Given the description of an element on the screen output the (x, y) to click on. 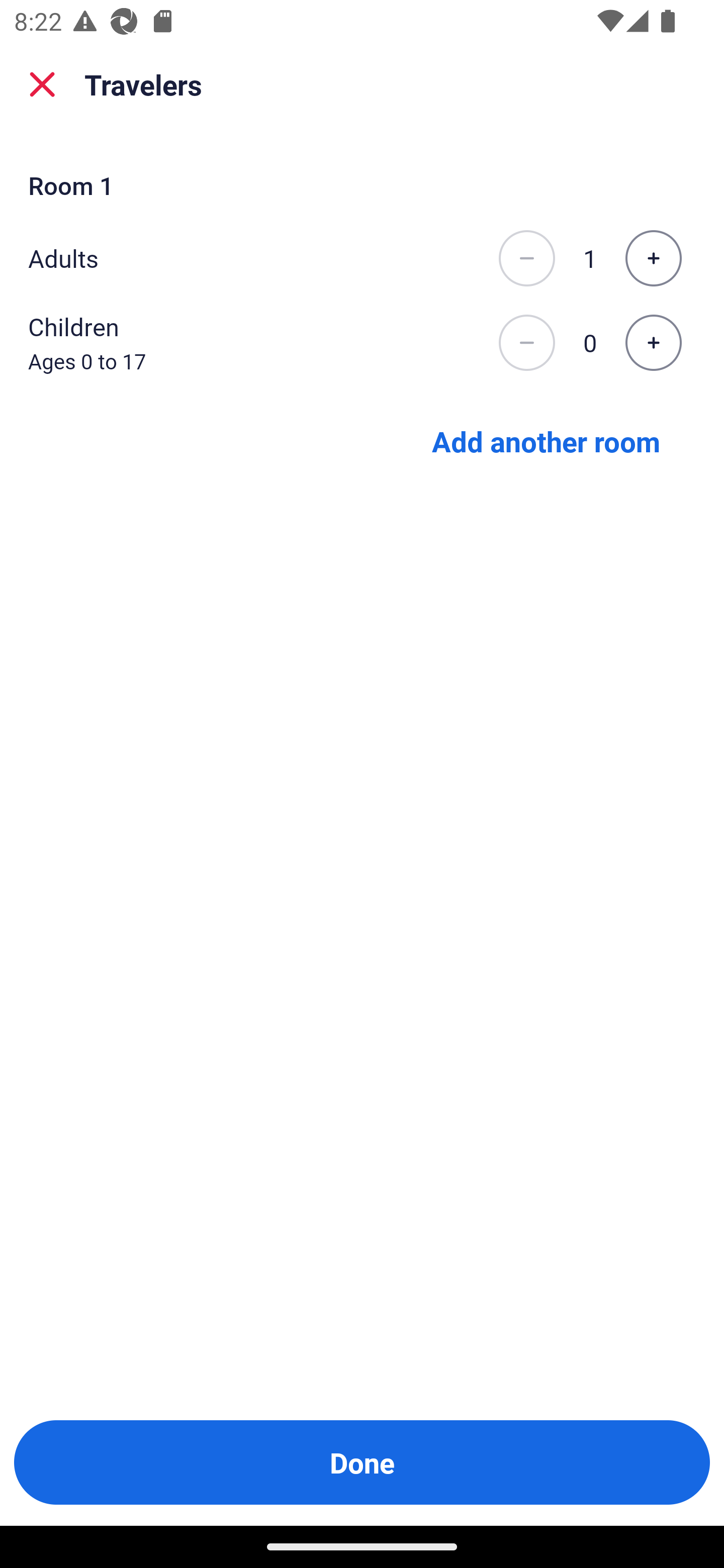
close (42, 84)
Decrease the number of adults (526, 258)
Increase the number of adults (653, 258)
Decrease the number of children (526, 343)
Increase the number of children (653, 343)
Add another room (545, 440)
Done (361, 1462)
